Given the description of an element on the screen output the (x, y) to click on. 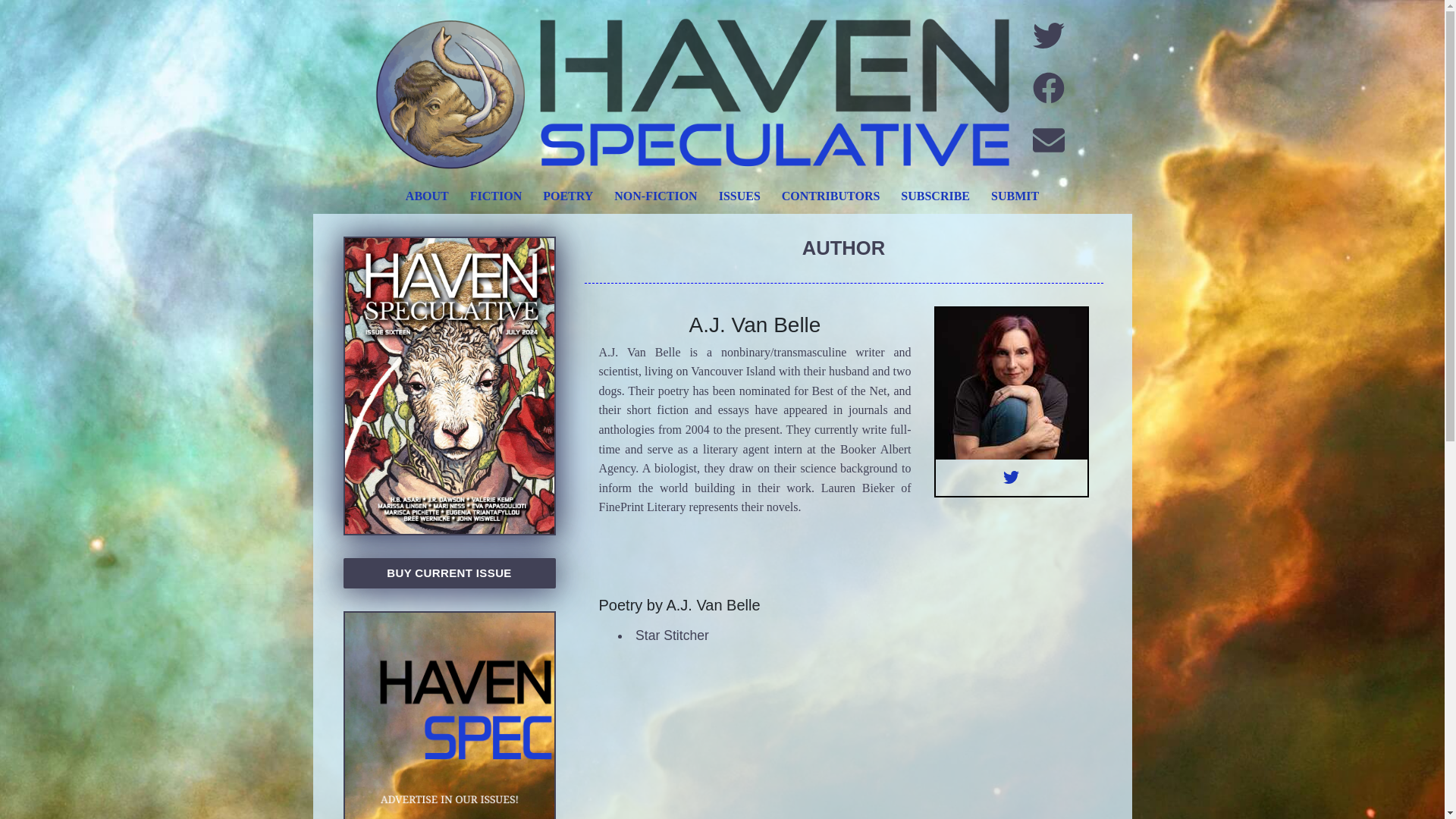
SUBSCRIBE (934, 196)
POETRY (568, 196)
NON-FICTION (655, 196)
ISSUES (739, 196)
SUBMIT (1014, 196)
FICTION (496, 196)
BUY CURRENT ISSUE (448, 572)
CONTRIBUTORS (831, 196)
ABOUT (427, 196)
